Given the description of an element on the screen output the (x, y) to click on. 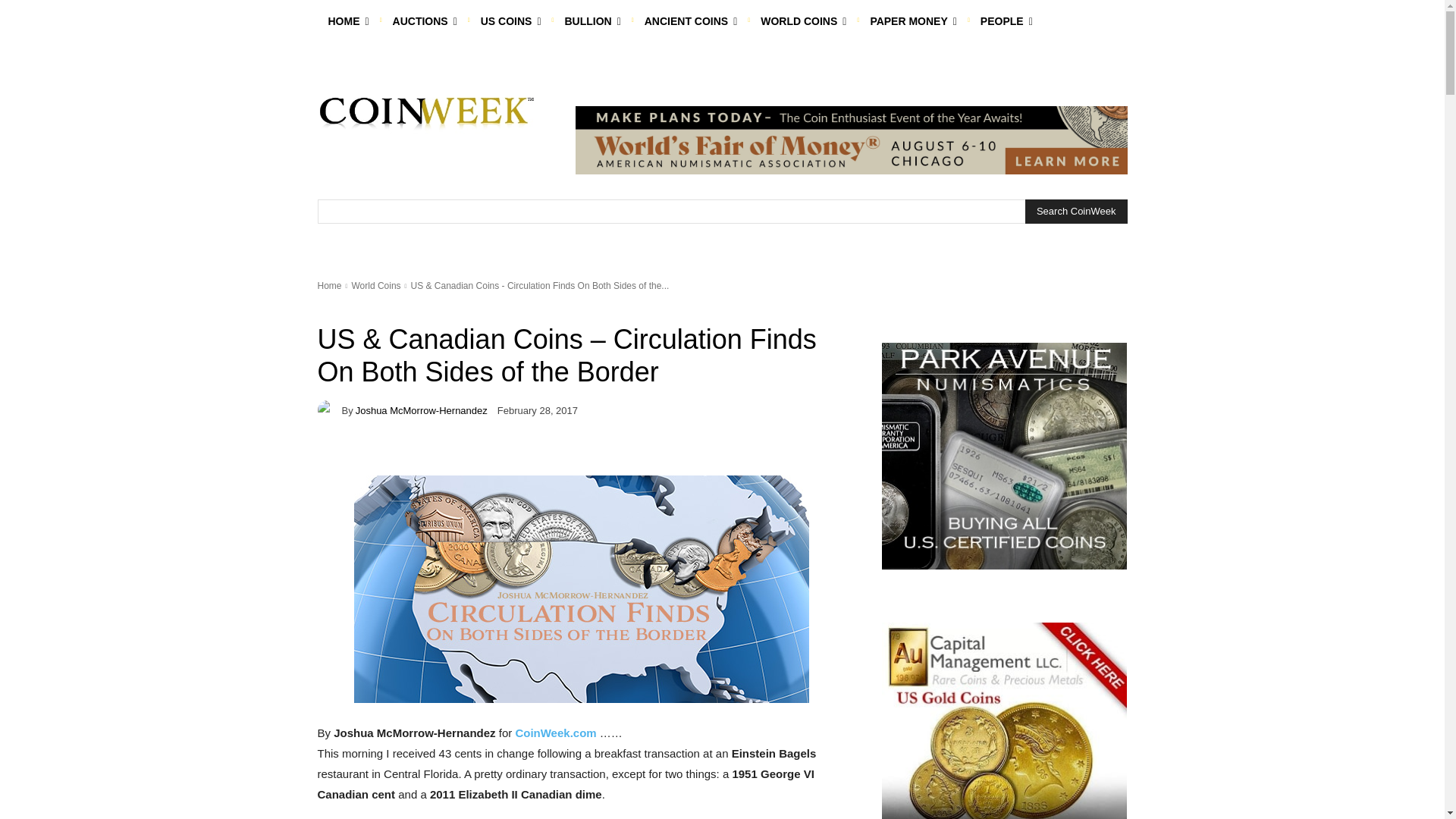
AUCTIONS (424, 21)
Joshua McMorrow-Hernandez (328, 410)
View all posts in World Coins (375, 285)
HOME (347, 21)
